Given the description of an element on the screen output the (x, y) to click on. 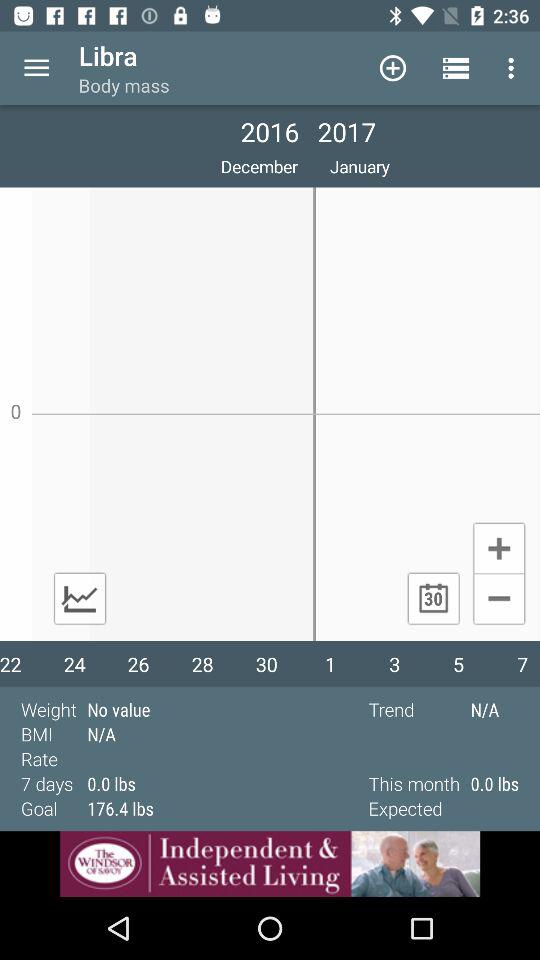
go to alternate page (79, 598)
